Given the description of an element on the screen output the (x, y) to click on. 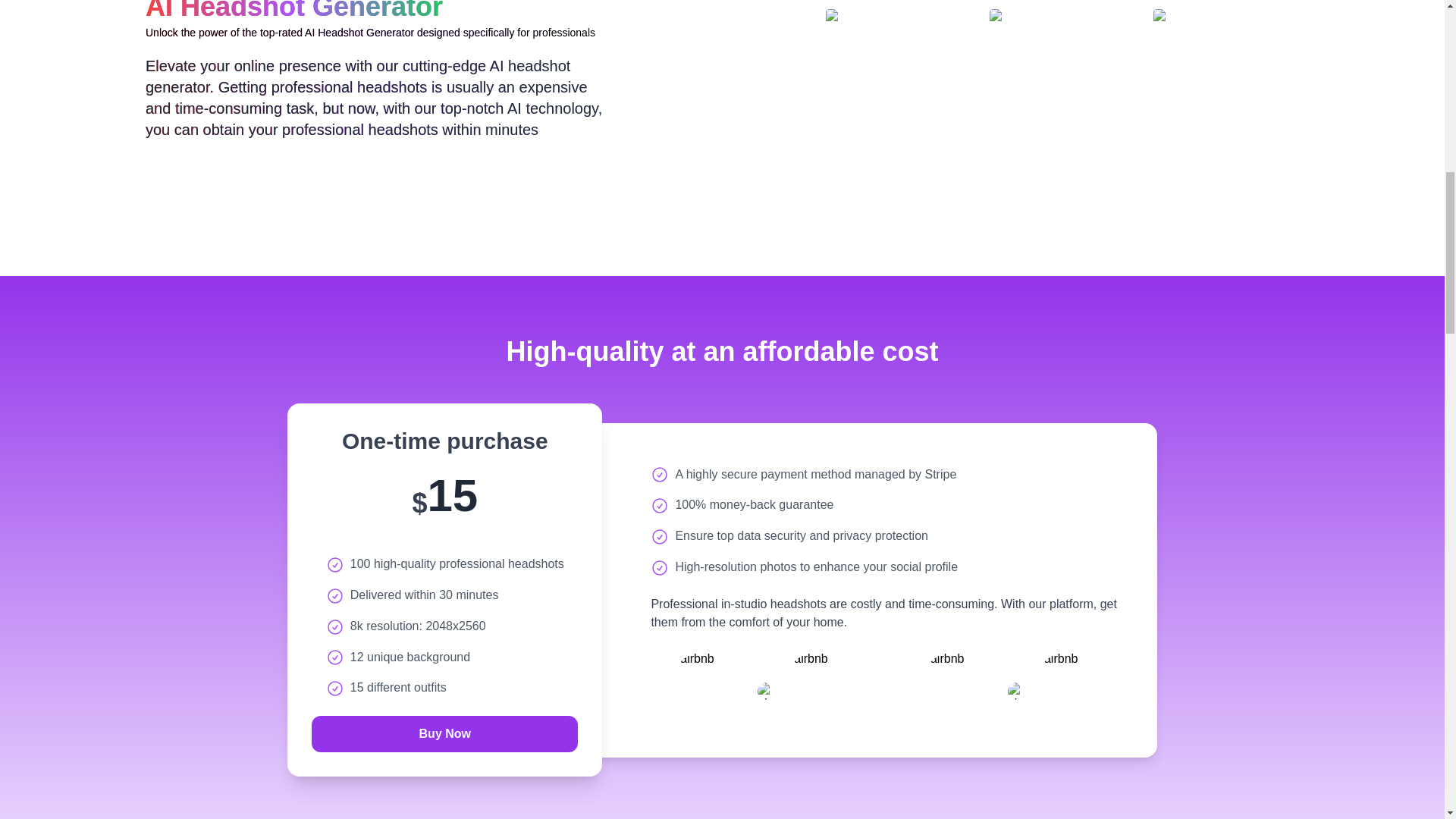
Buy Now (444, 733)
Submit (444, 733)
